Given the description of an element on the screen output the (x, y) to click on. 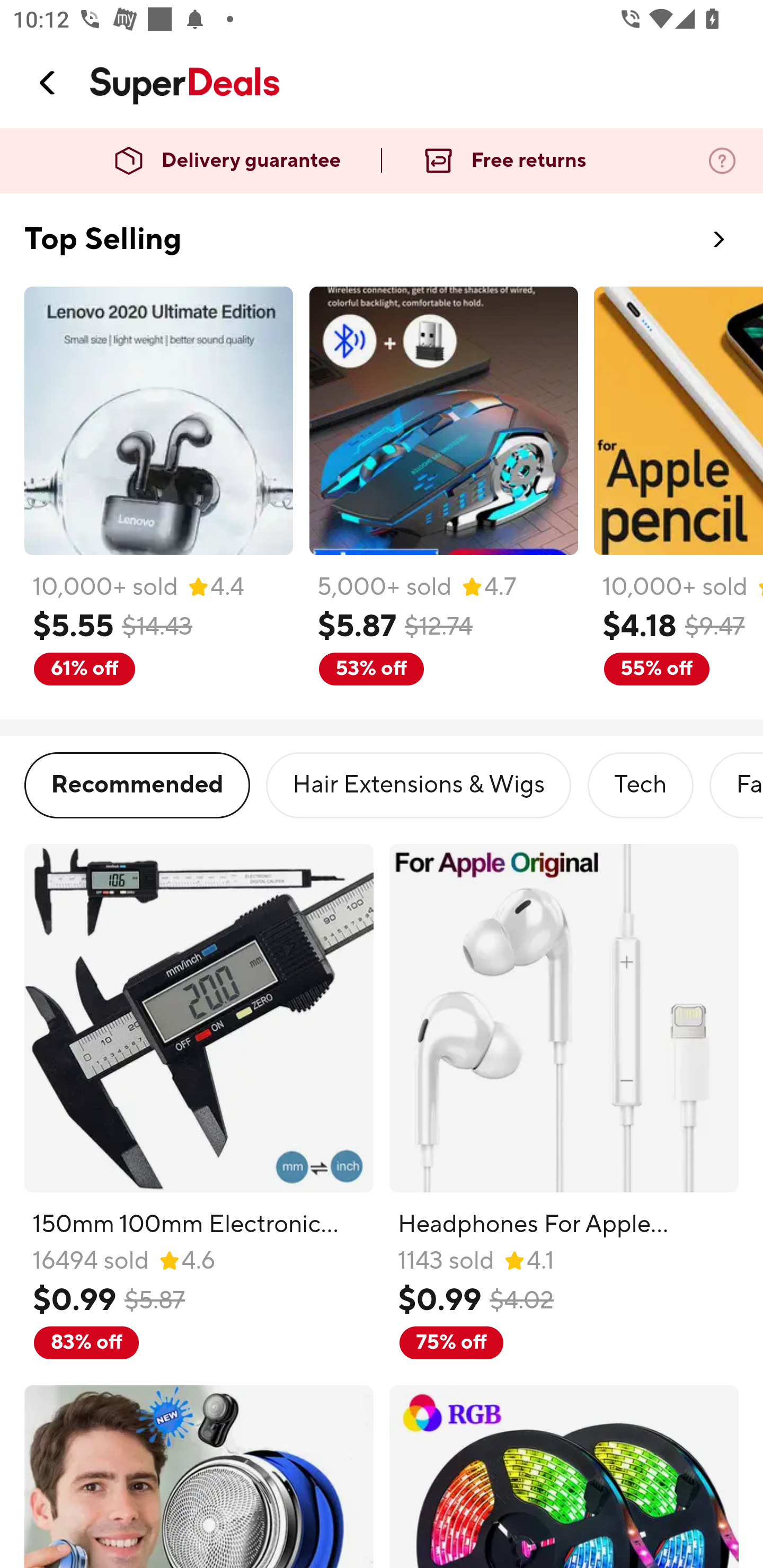
 (48, 82)
Top Selling  Top Selling (381, 227)
Recommended (137, 785)
Hair Extensions & Wigs (418, 785)
Tech (640, 785)
